Given the description of an element on the screen output the (x, y) to click on. 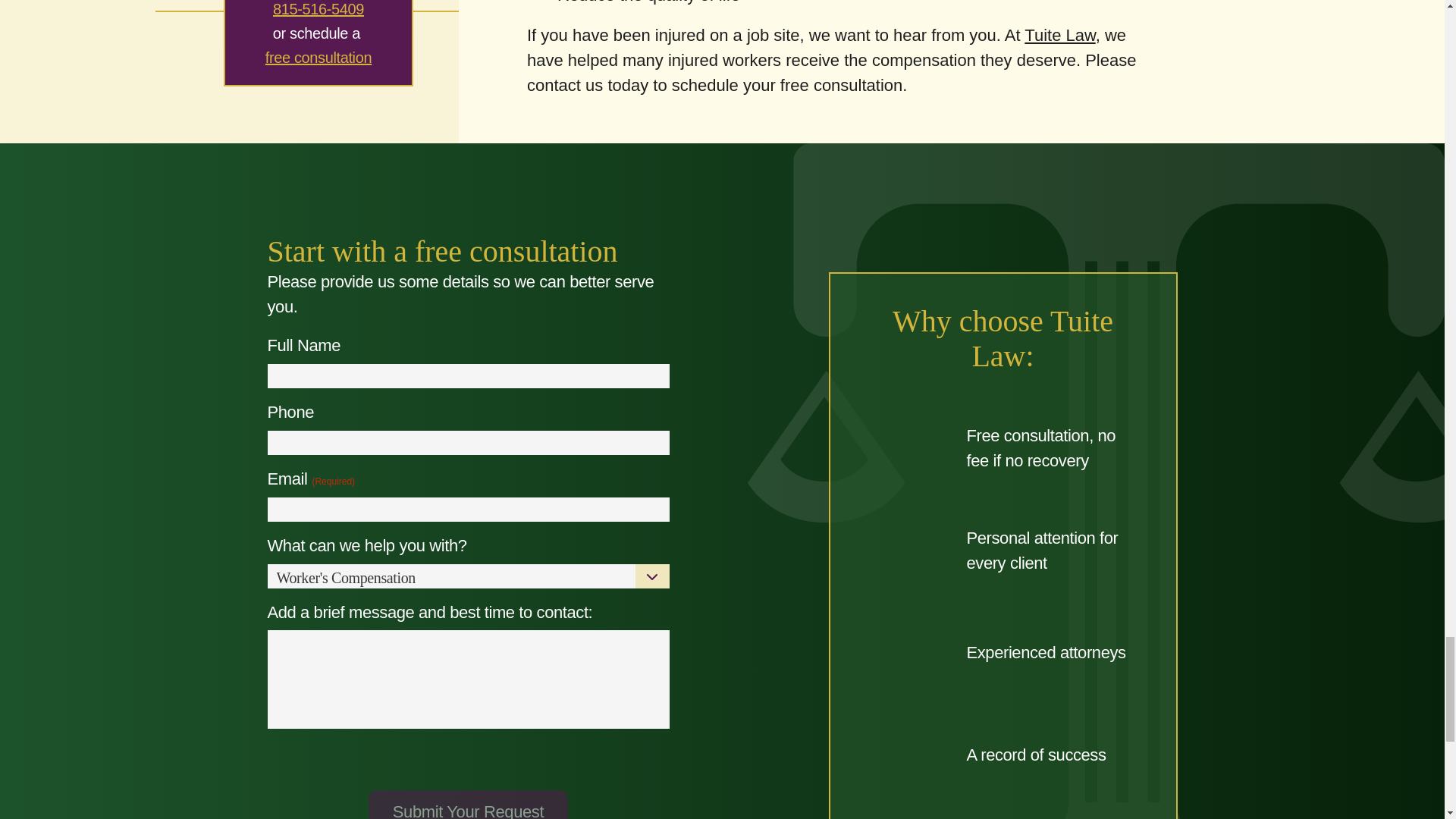
Submit Your Request (467, 804)
Tuite Law (1059, 35)
Submit Your Request (467, 804)
